Given the description of an element on the screen output the (x, y) to click on. 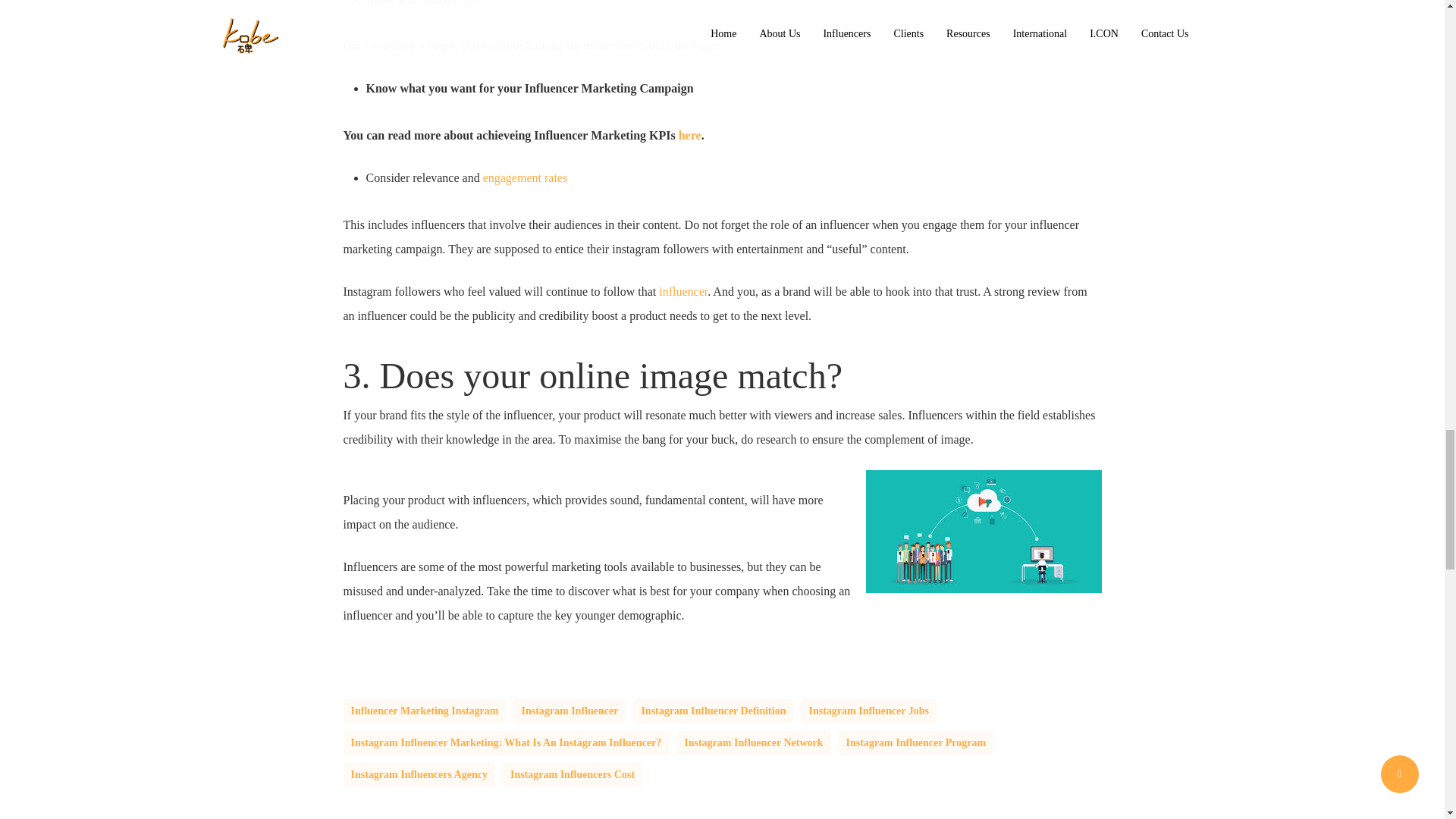
Instagram Influencer (569, 711)
influencer (683, 291)
Influencer Marketing Instagram (423, 711)
engagement rates (525, 177)
here (689, 134)
